Given the description of an element on the screen output the (x, y) to click on. 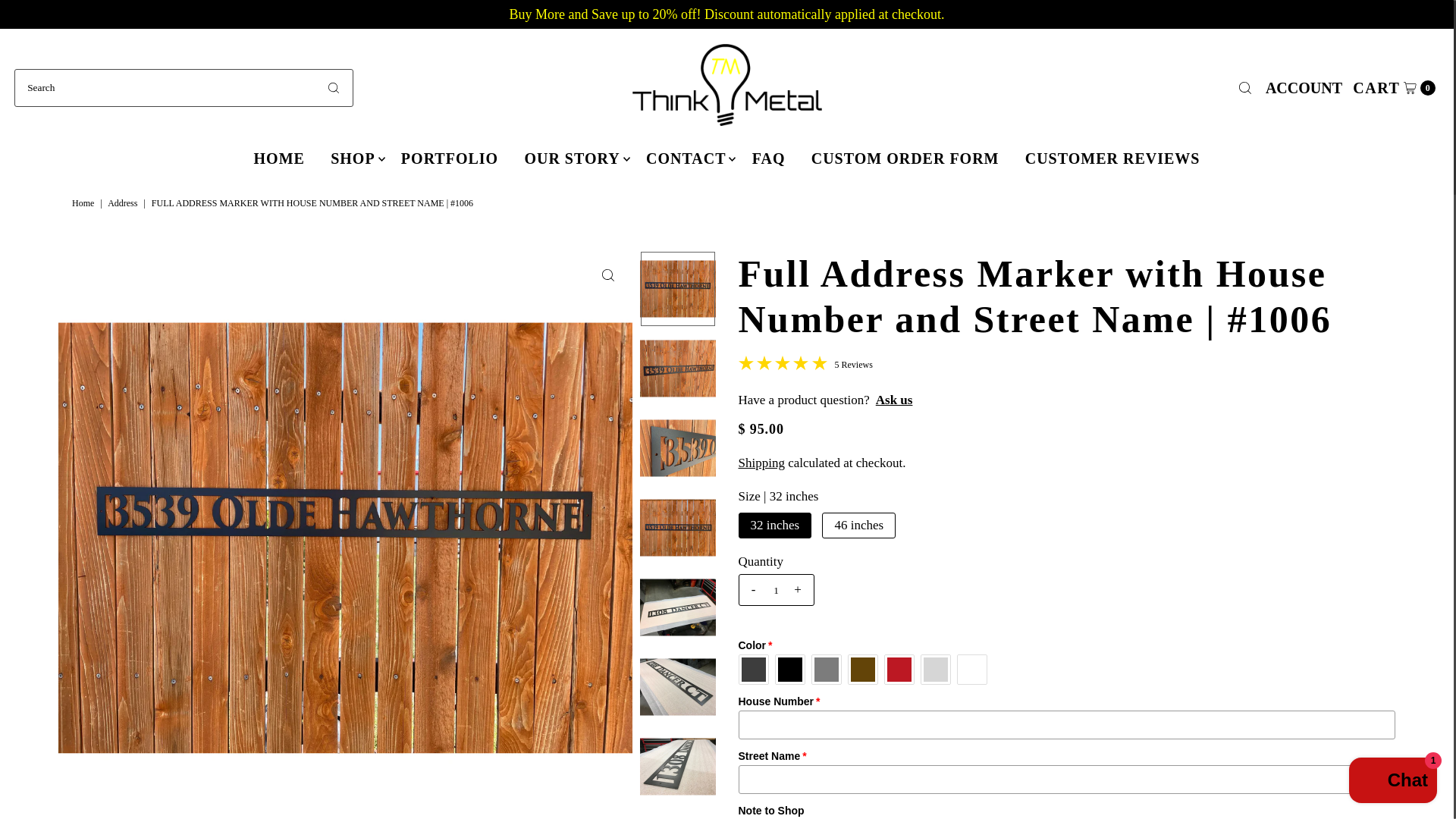
Address (124, 203)
Click to zoom (607, 274)
SHOP (351, 158)
ACCOUNT (1303, 86)
HOME (279, 158)
Home (1394, 86)
